Given the description of an element on the screen output the (x, y) to click on. 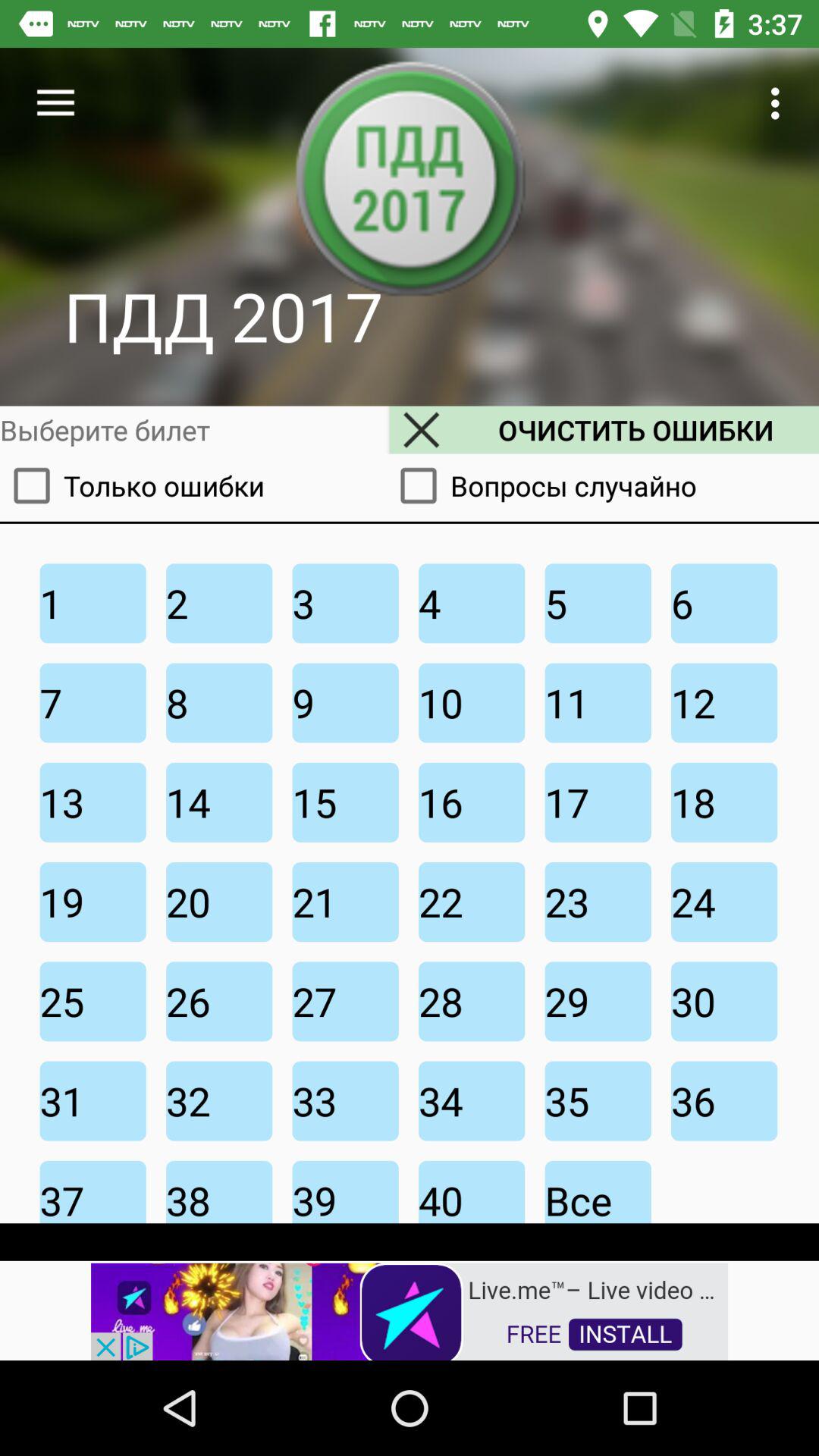
advertisement for live.me (409, 1310)
